Given the description of an element on the screen output the (x, y) to click on. 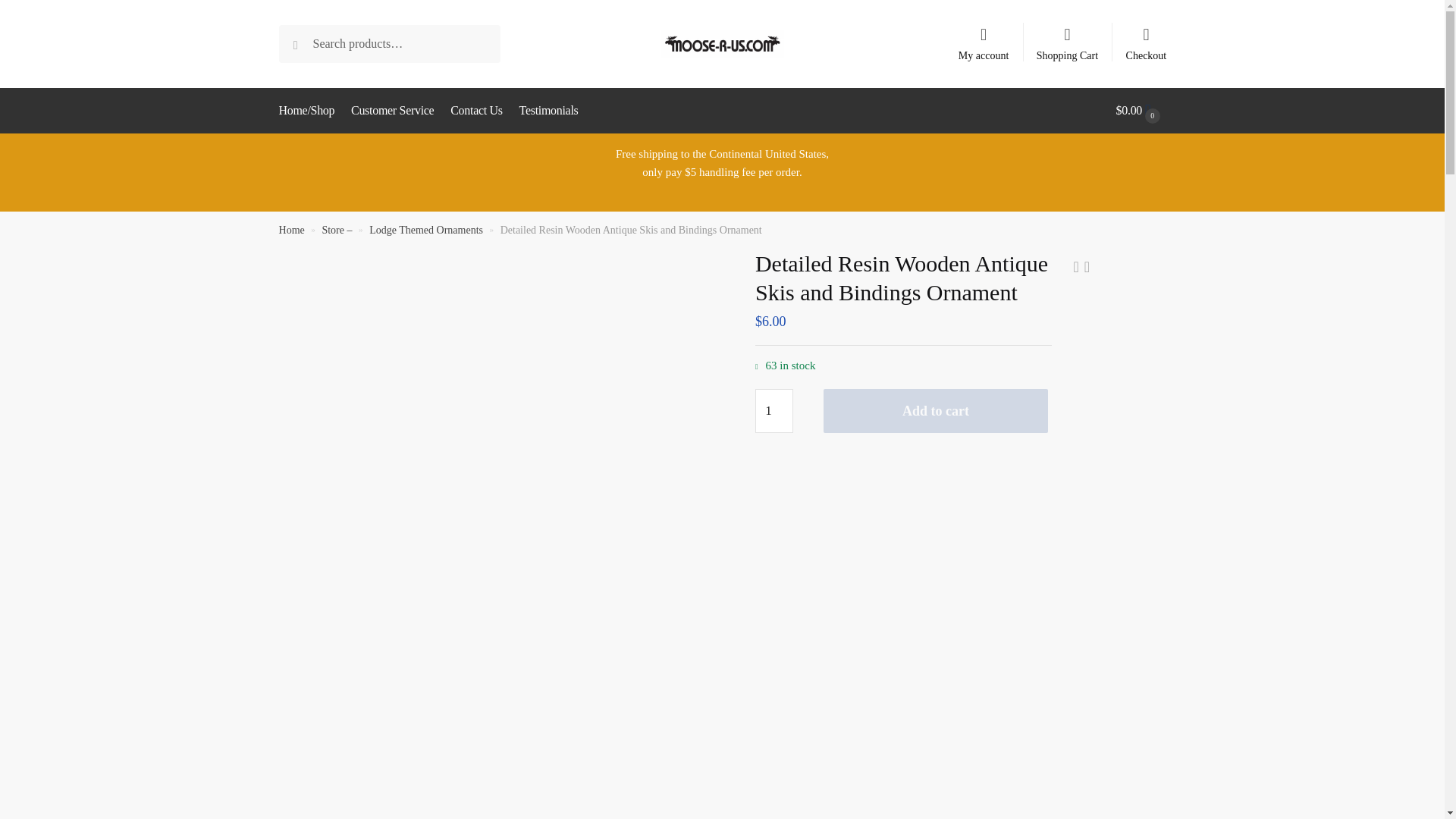
My account (983, 37)
Home (291, 229)
Customer Service (392, 110)
Checkout (1145, 37)
Contact Us (476, 110)
Search (314, 42)
View your shopping cart (1141, 110)
Shopping Cart (1067, 37)
Add to cart (936, 411)
Testimonials (548, 110)
Lodge Themed Ornaments (426, 229)
